Given the description of an element on the screen output the (x, y) to click on. 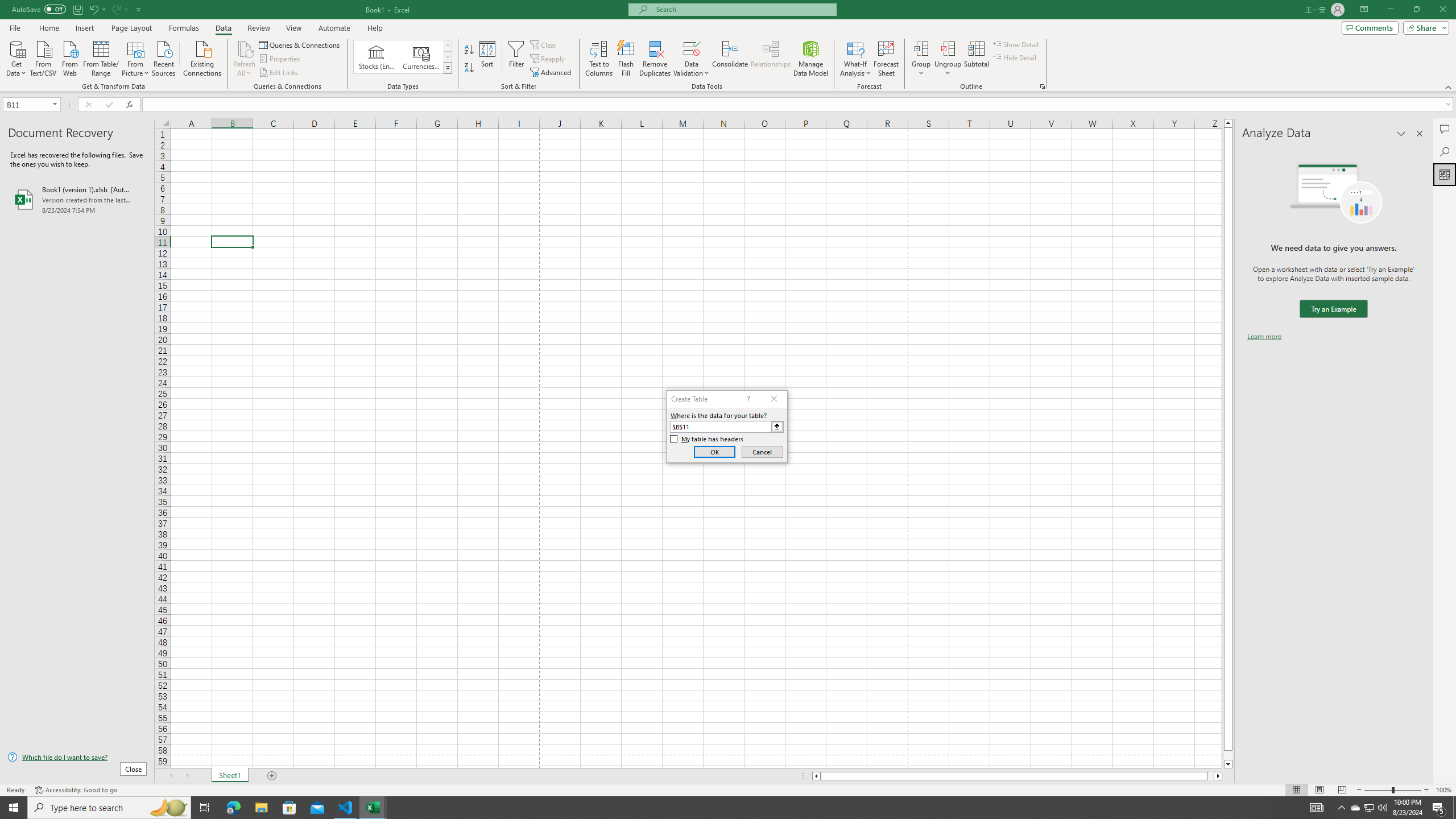
Microsoft search (742, 9)
Share (1423, 27)
Search (1444, 151)
Sort... (487, 58)
Text to Columns... (598, 58)
Existing Connections (202, 57)
Page Layout (131, 28)
Row Down (448, 56)
Scroll Left (171, 775)
Hide Detail (1014, 56)
Relationships (770, 58)
From Table/Range (100, 57)
Group... (921, 48)
Formula Bar (799, 104)
Comments (1369, 27)
